Given the description of an element on the screen output the (x, y) to click on. 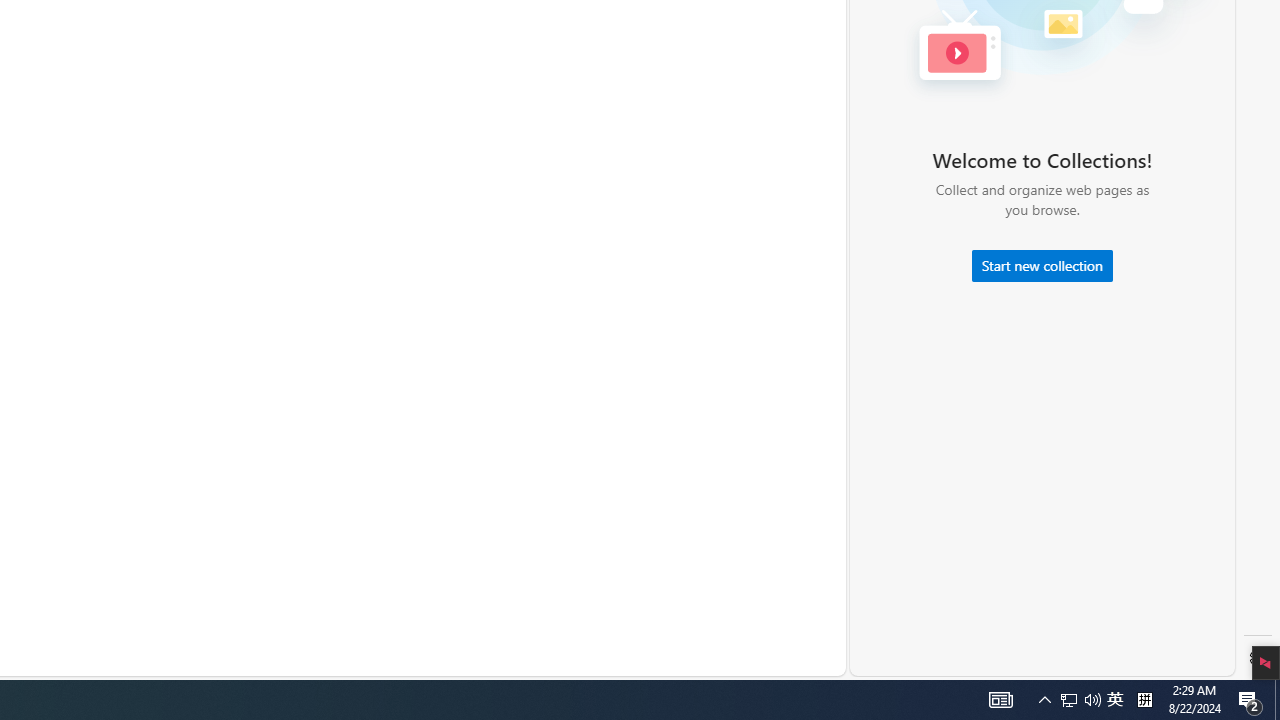
Start new collection (1042, 265)
